Given the description of an element on the screen output the (x, y) to click on. 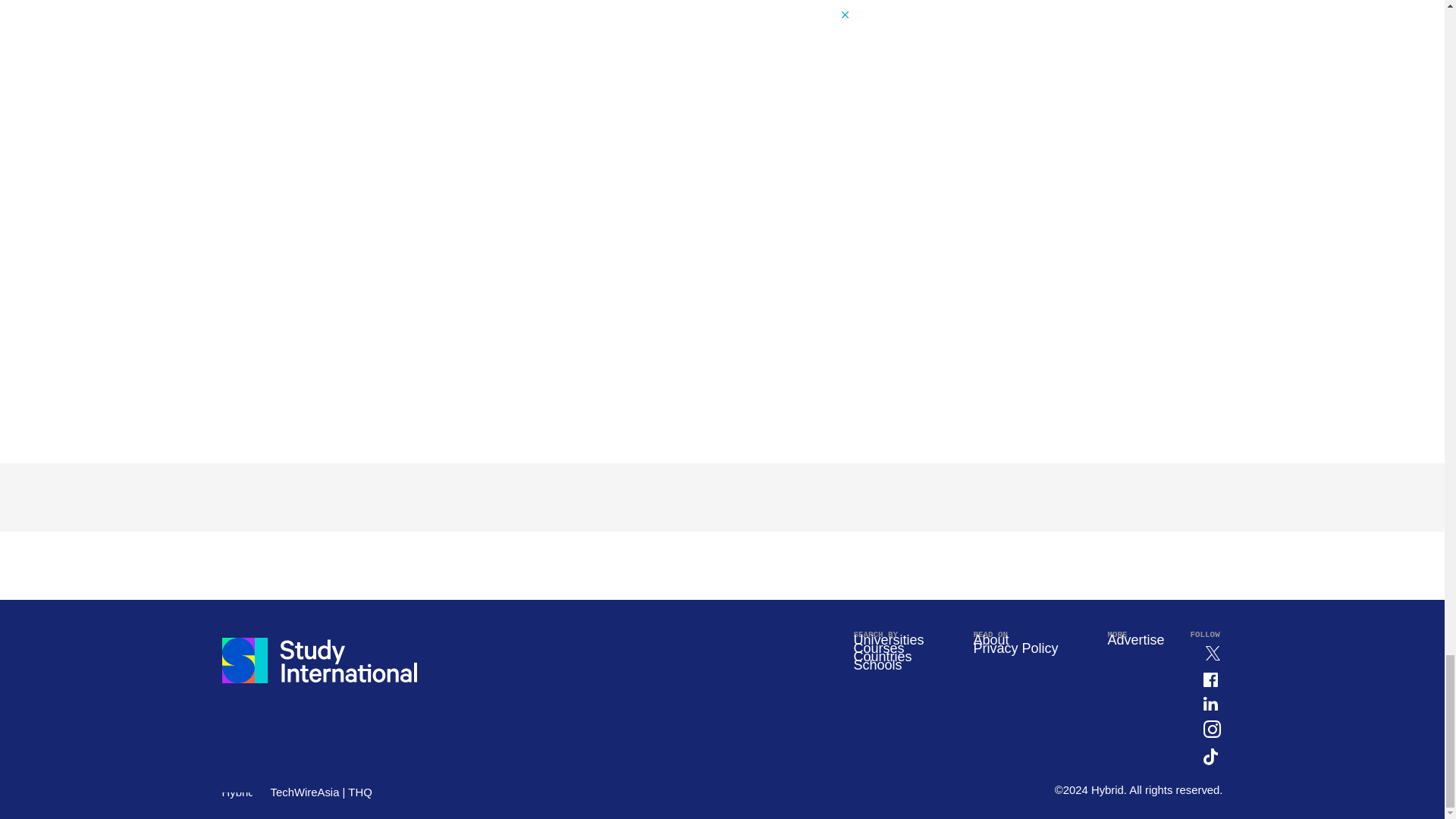
Countries (882, 656)
About (990, 639)
Schools (877, 664)
Universities (888, 639)
Courses (878, 648)
